Given the description of an element on the screen output the (x, y) to click on. 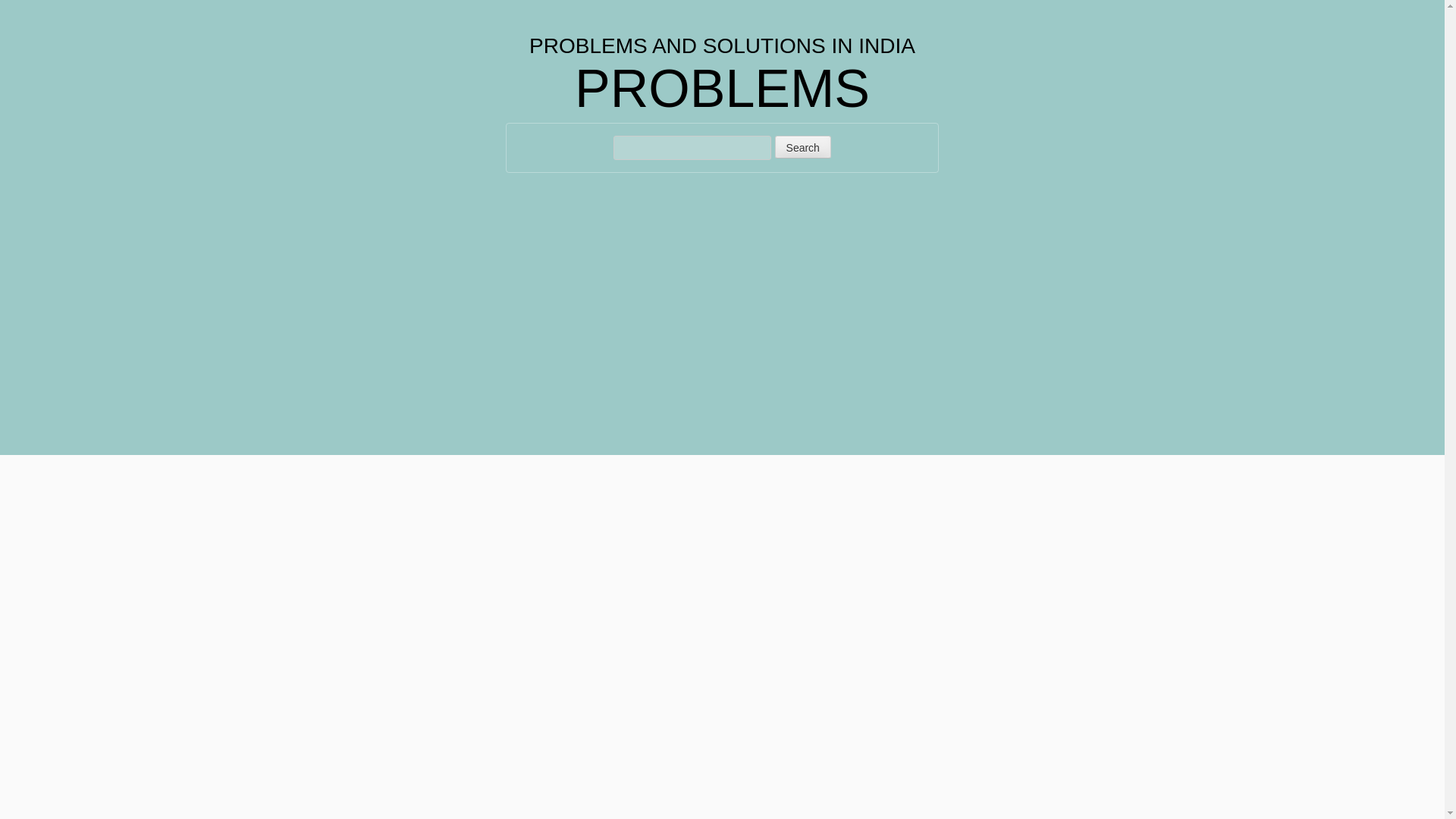
Search (802, 146)
Search (802, 146)
Search (802, 146)
